Given the description of an element on the screen output the (x, y) to click on. 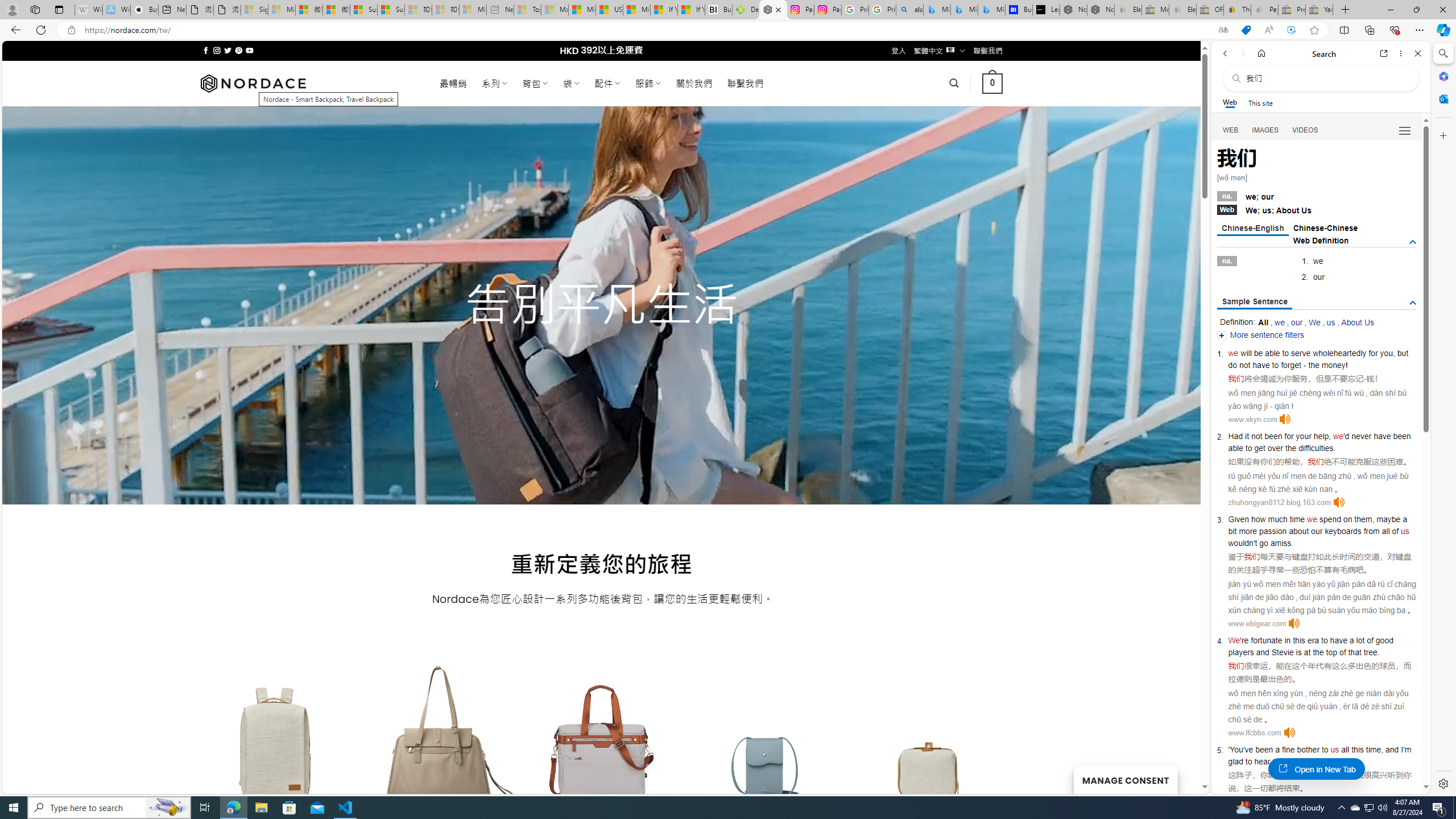
money (1332, 364)
keyboards (1342, 530)
 0  (992, 83)
www.ebigear.com (1257, 623)
but (1402, 352)
Threats and offensive language policy | eBay (1236, 9)
players (1240, 651)
going (1294, 760)
